Given the description of an element on the screen output the (x, y) to click on. 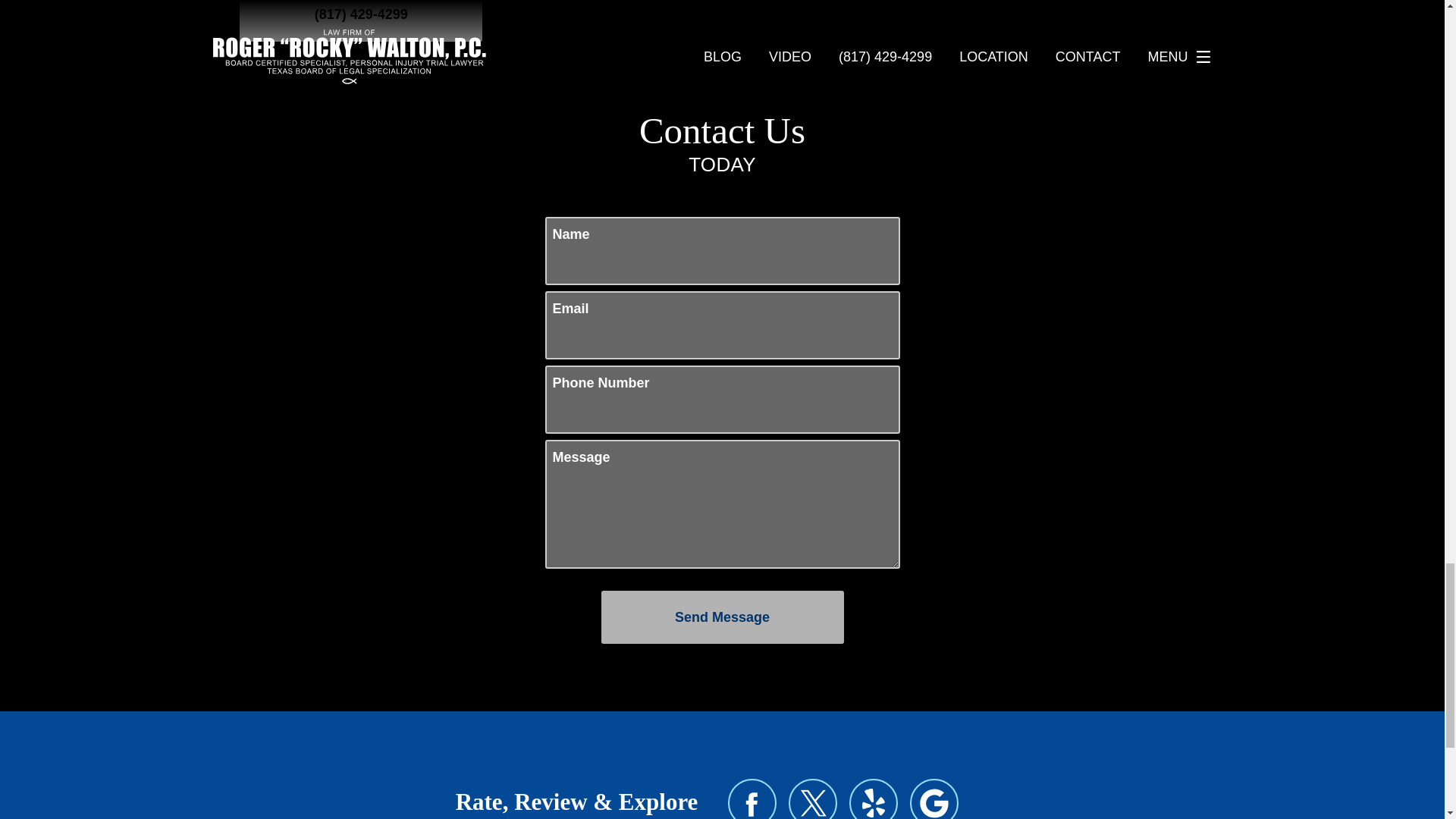
Google (934, 798)
Send Message (721, 616)
Twitter (813, 798)
Yelp (873, 798)
Facebook (752, 798)
